Given the description of an element on the screen output the (x, y) to click on. 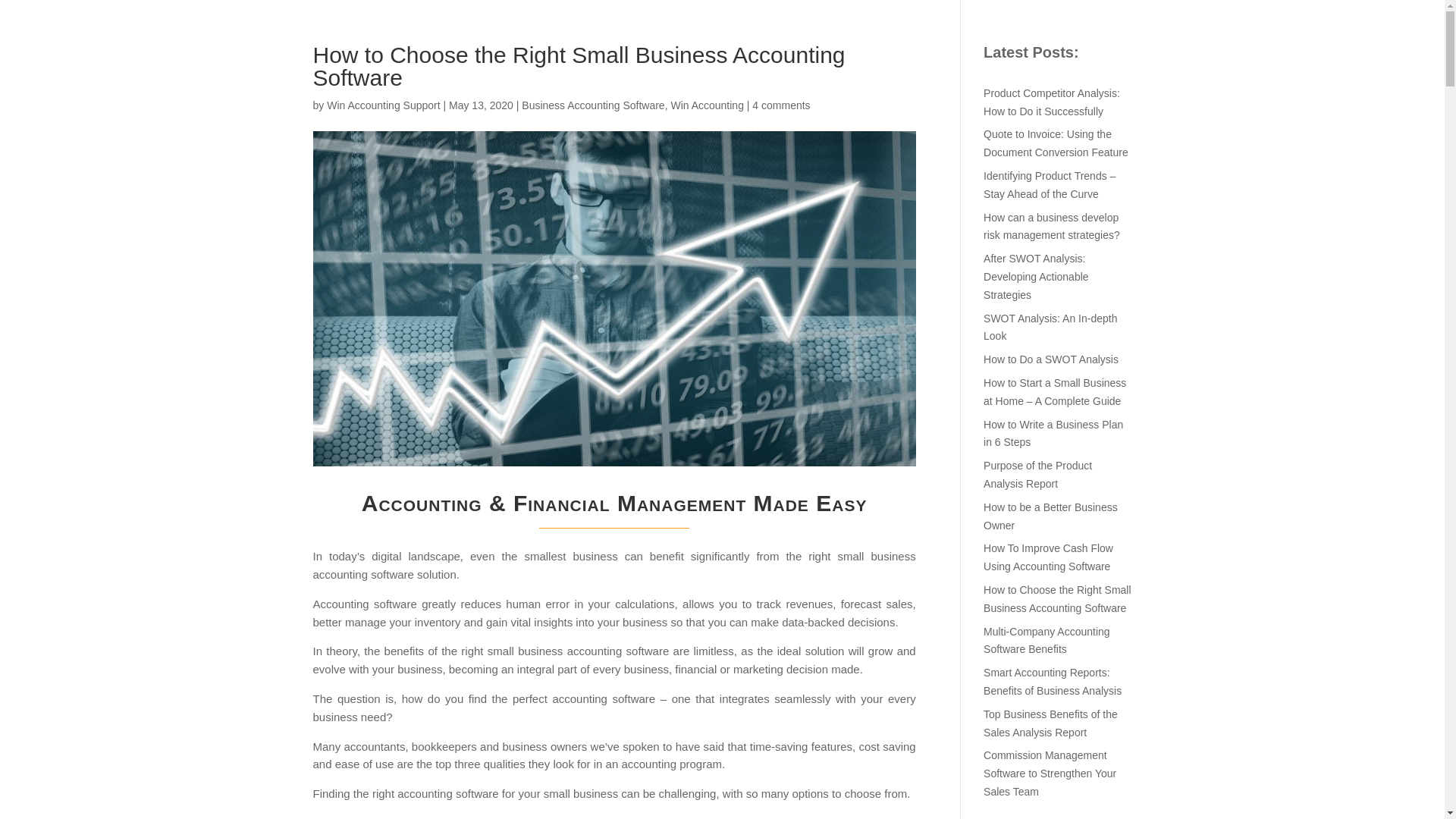
Win Accounting Support (382, 105)
Win Accounting (706, 105)
4 comments (780, 105)
Business Accounting Software (592, 105)
Posts by Win Accounting Support (382, 105)
